Given the description of an element on the screen output the (x, y) to click on. 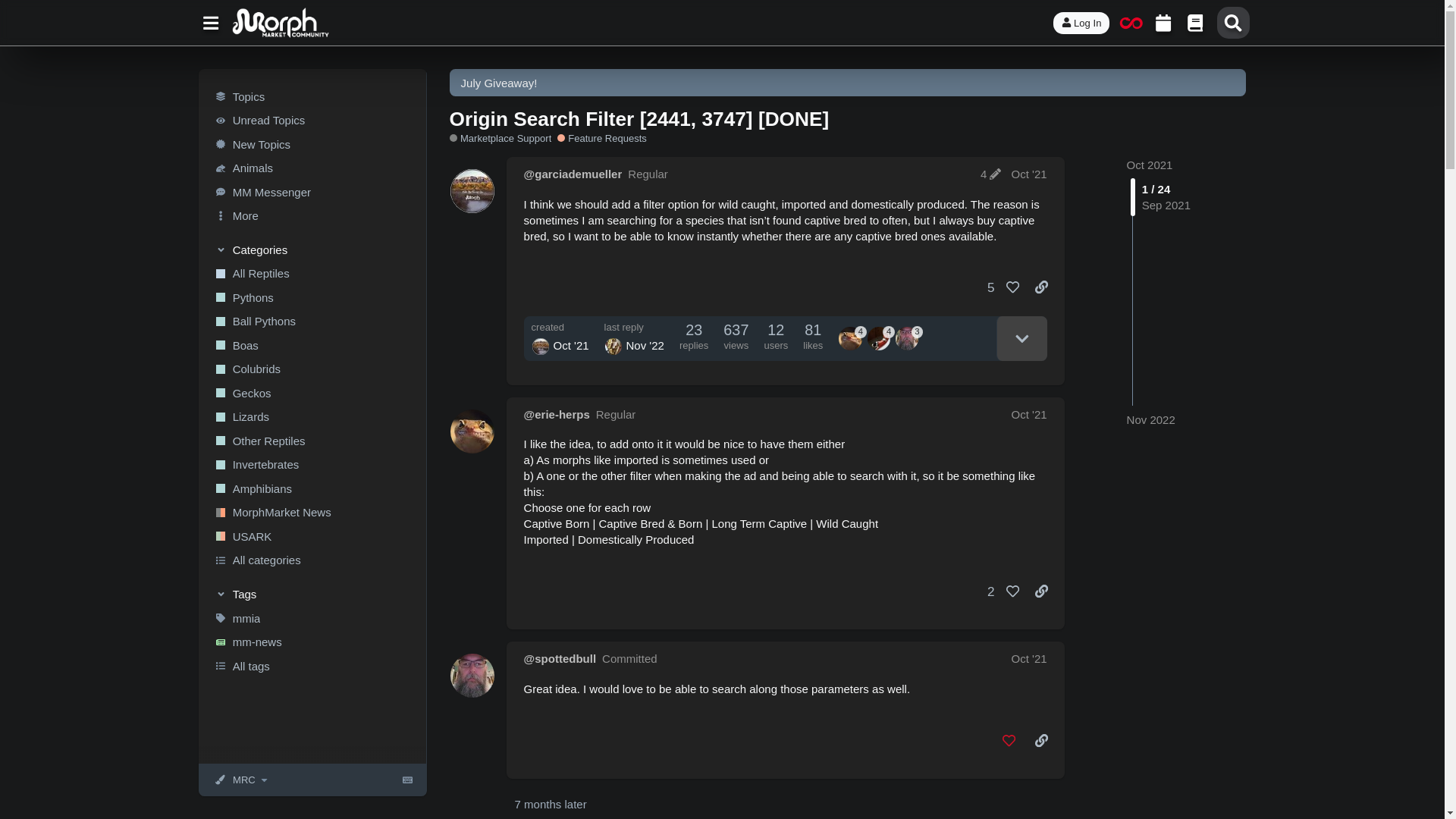
Marketplace Support (500, 138)
All topics (311, 96)
MorphMarket News (311, 512)
July Giveaway! (499, 82)
Pythons (311, 297)
mm-news (311, 641)
Toggle section (312, 249)
Feature Requests (601, 138)
Unread Topics (311, 120)
Geckos (311, 393)
All tags (311, 665)
Morphpedia (1195, 22)
Other Reptiles (311, 441)
MM Messenger (311, 191)
Search (1233, 22)
